Given the description of an element on the screen output the (x, y) to click on. 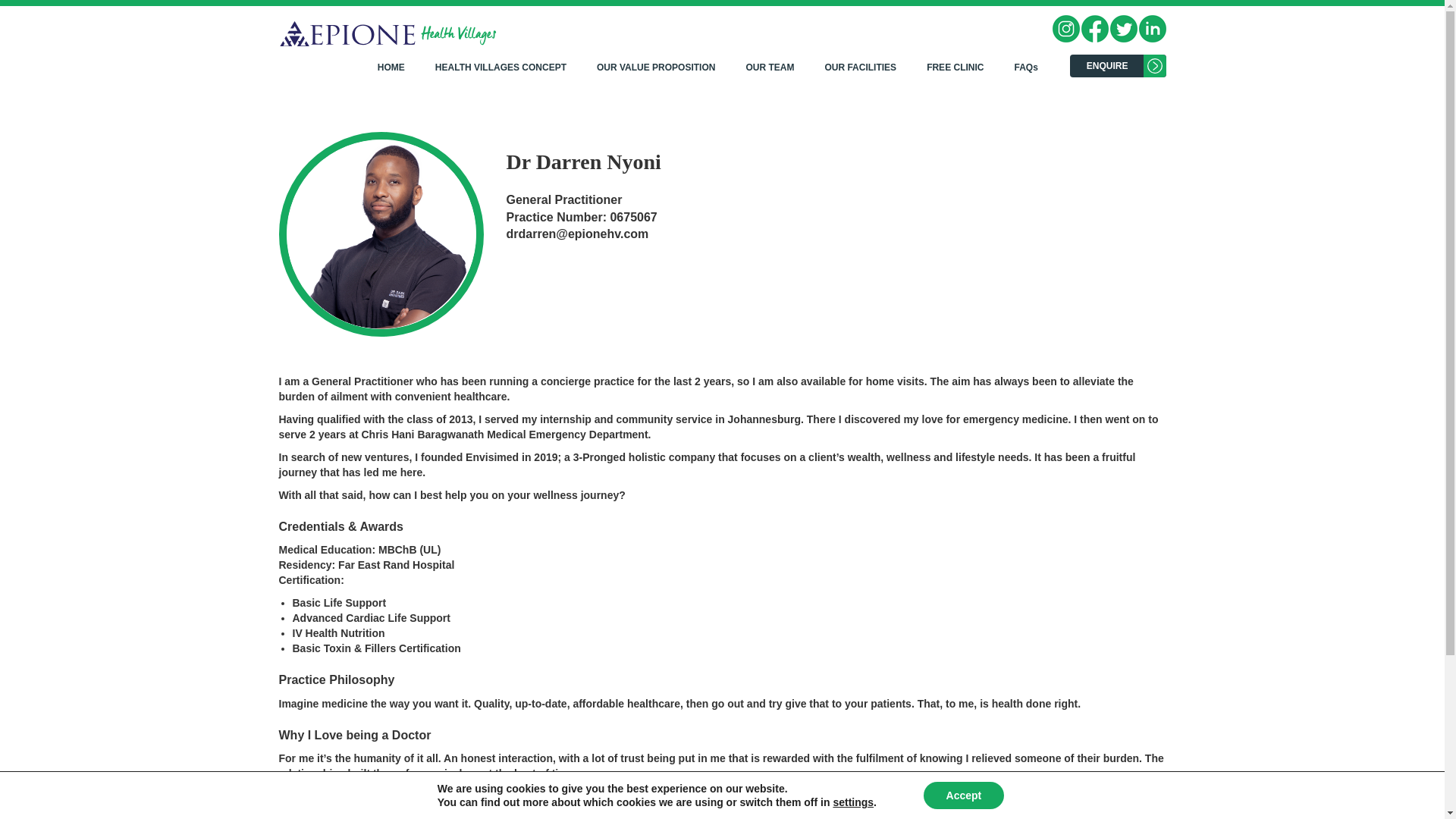
ENQUIRE (1118, 65)
HOME (398, 67)
FREE CLINIC (954, 67)
Accept (963, 795)
settings (852, 802)
OUR VALUE PROPOSITION (655, 67)
OUR FACILITIES (860, 67)
HEALTH VILLAGES CONCEPT (500, 67)
OUR TEAM (769, 67)
FAQs (1025, 67)
